Given the description of an element on the screen output the (x, y) to click on. 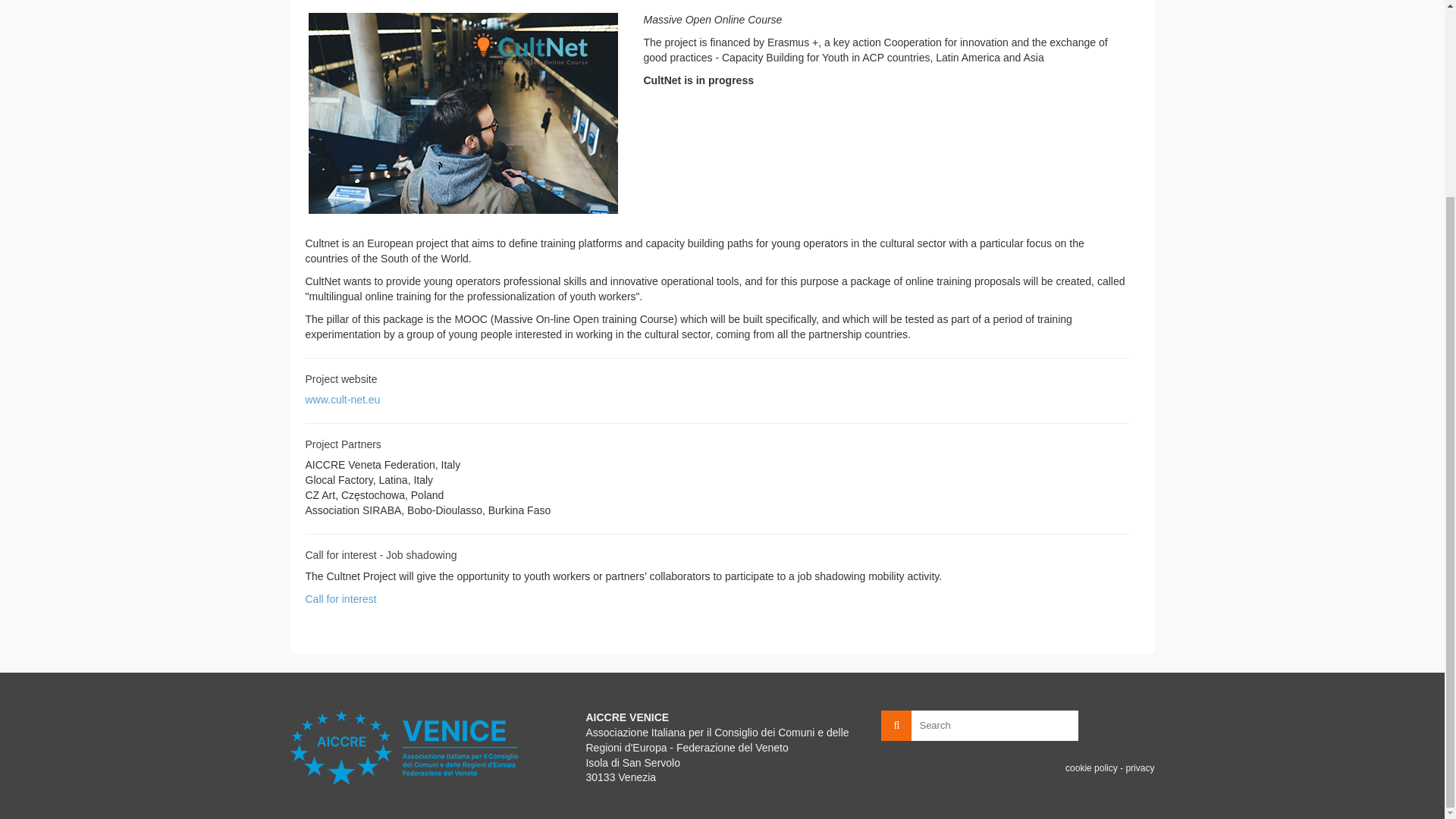
www.cult-net.eu (342, 399)
privacy (1139, 767)
cookie policy (1092, 767)
Call for interest (339, 598)
